Given the description of an element on the screen output the (x, y) to click on. 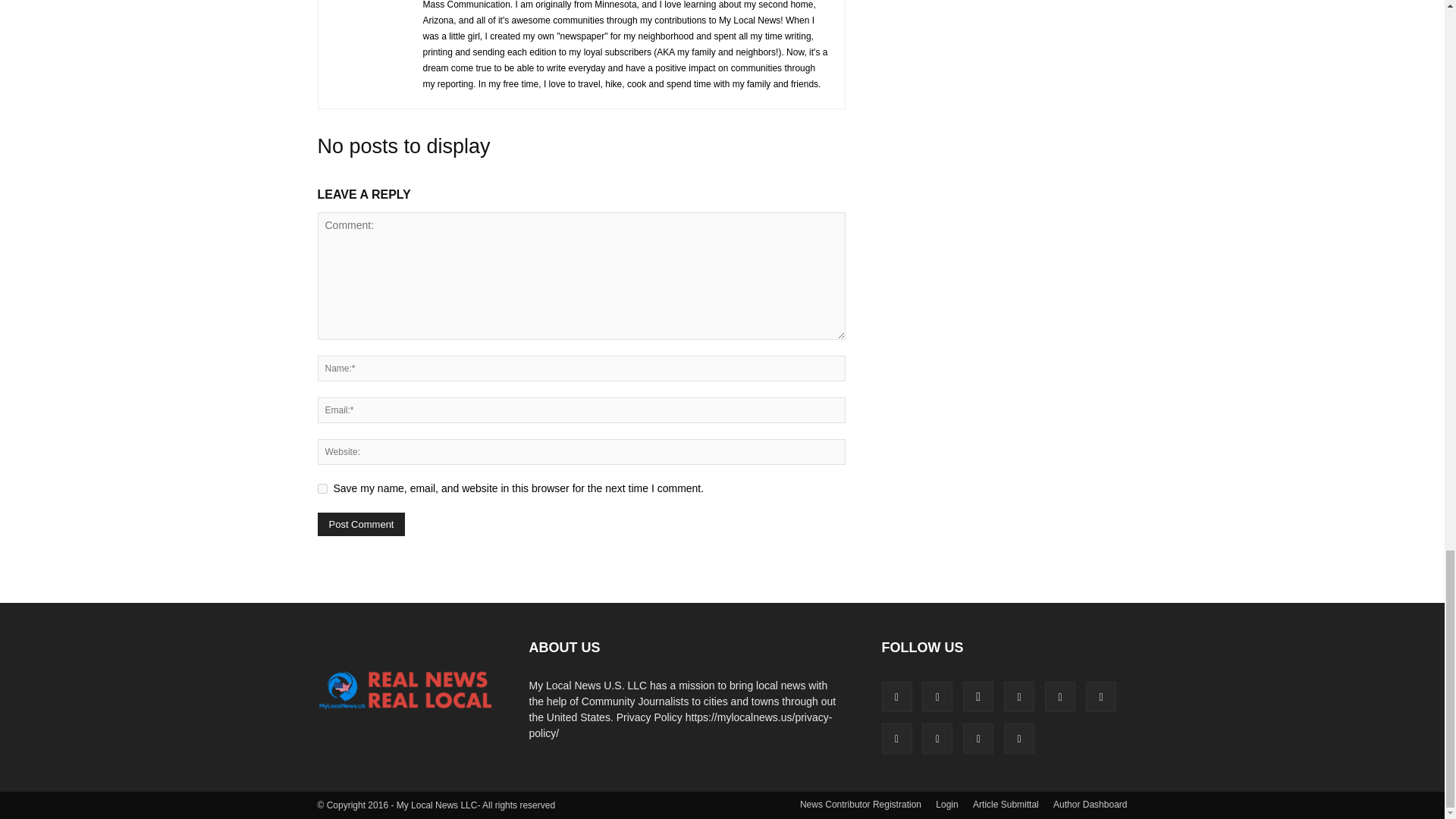
yes (321, 488)
Post Comment (360, 524)
